Given the description of an element on the screen output the (x, y) to click on. 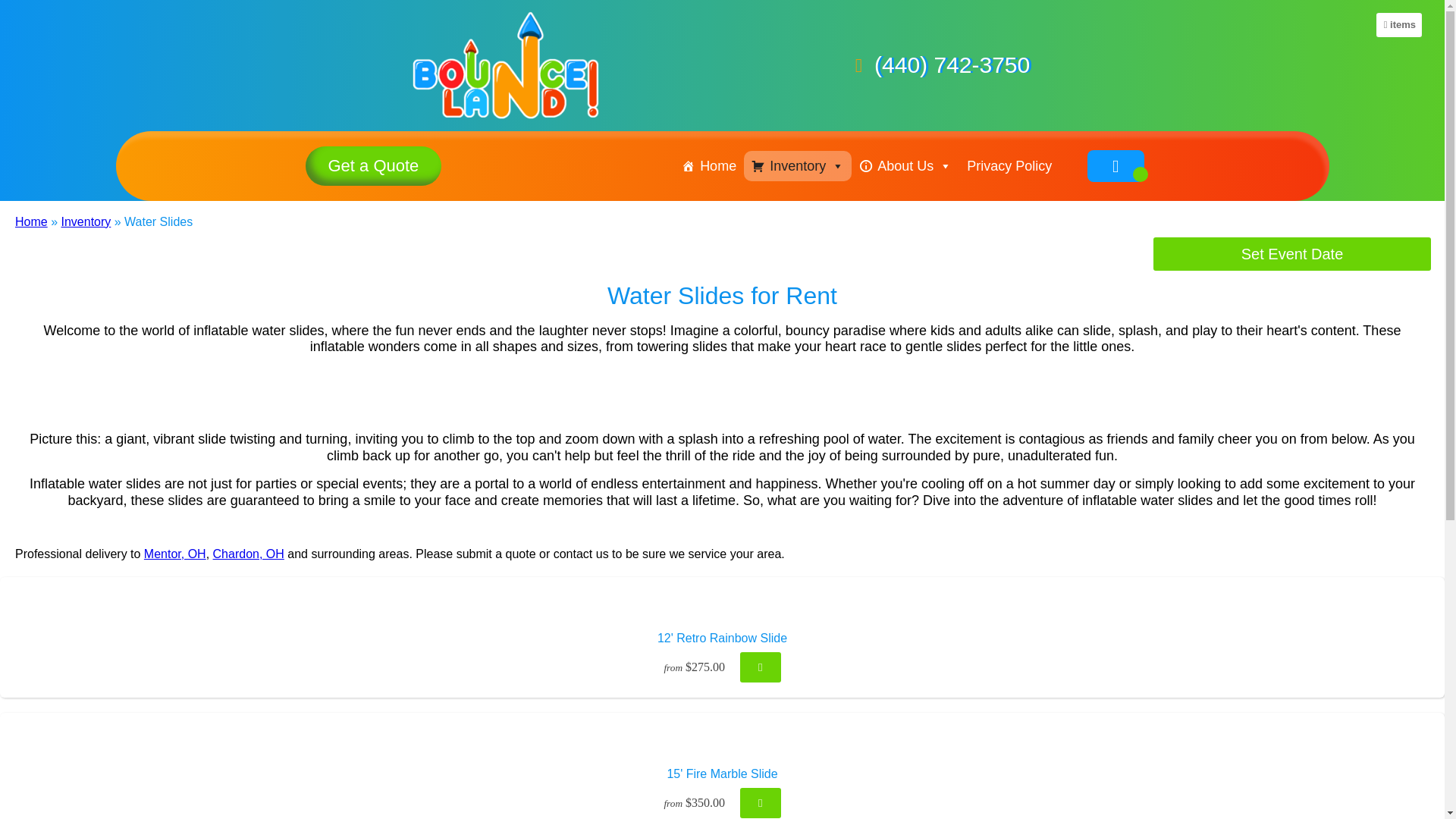
Chardon, OH (247, 553)
Get a Quote (372, 165)
Inventory (85, 221)
Home (31, 221)
Inventory (797, 165)
Privacy Policy (1009, 165)
Mentor, OH (175, 553)
About Us (905, 165)
Home (709, 165)
